Given the description of an element on the screen output the (x, y) to click on. 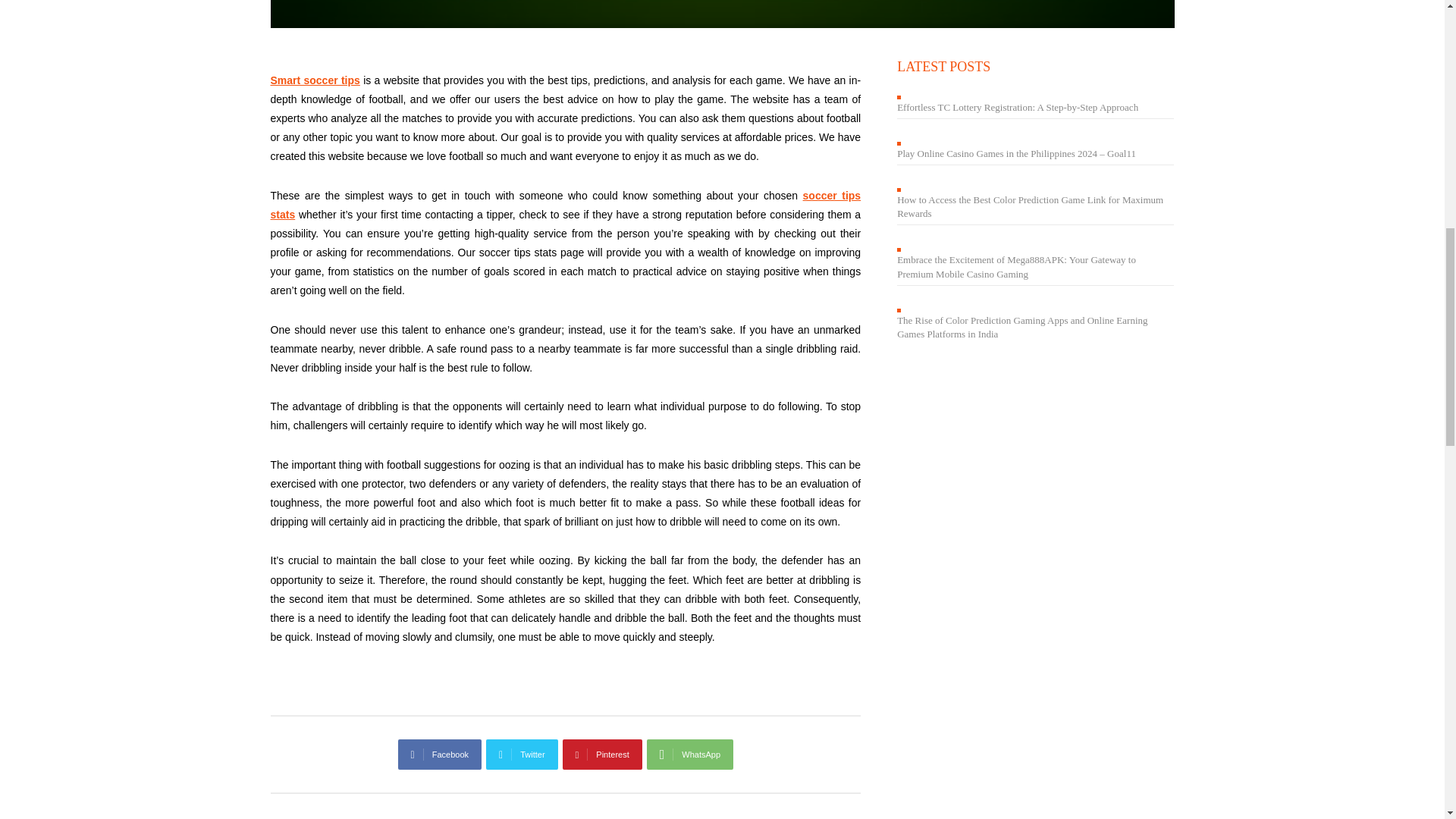
Twitter (521, 754)
WhatsApp (689, 754)
Effortless TC Lottery Registration: A Step-by-Step Approach (1017, 107)
Pinterest (602, 754)
Facebook (439, 754)
Smart soccer tips (721, 13)
